Given the description of an element on the screen output the (x, y) to click on. 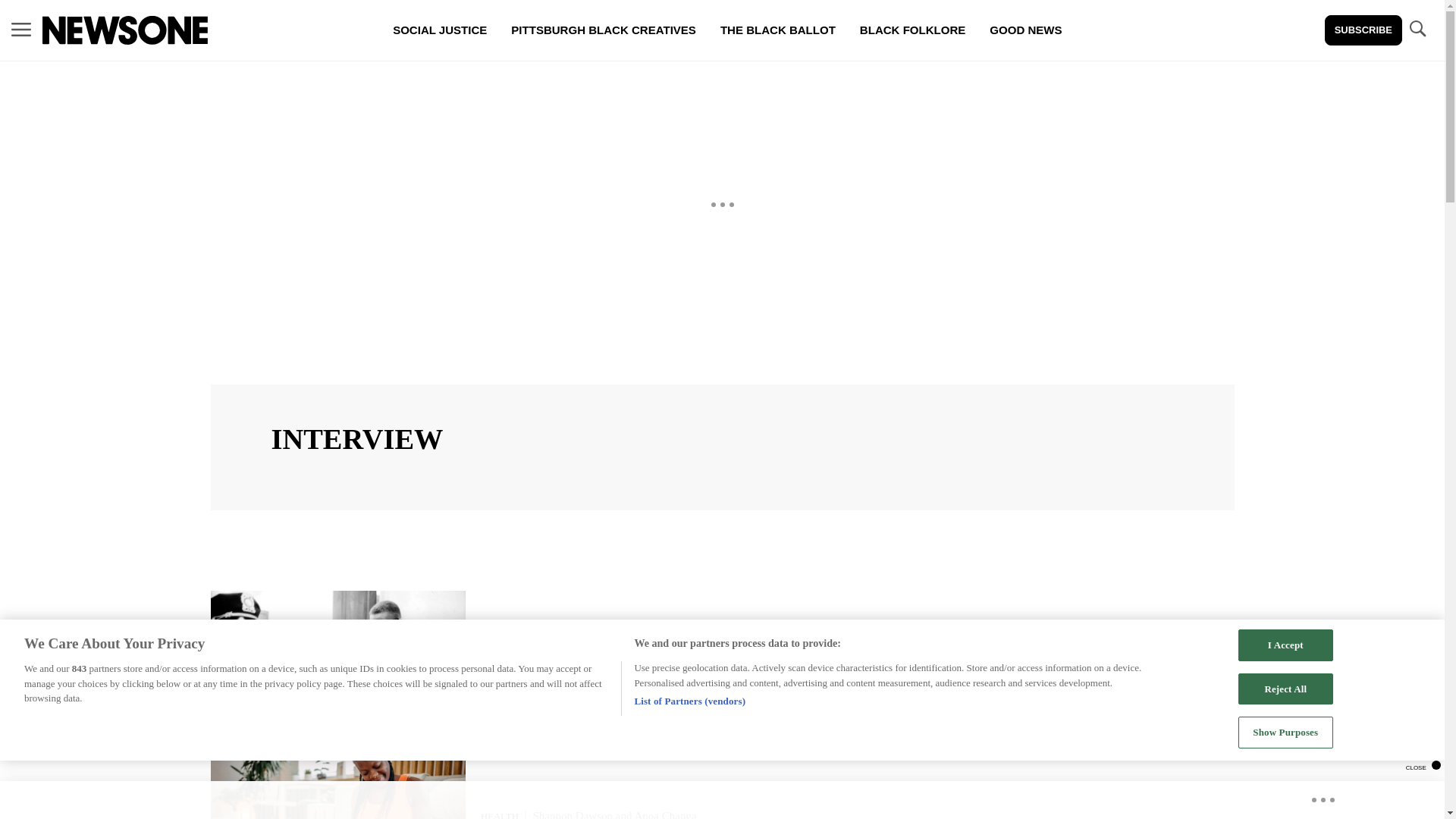
TOGGLE SEARCH (1417, 30)
TOGGLE SEARCH (1417, 28)
Shannon Dawson (685, 647)
BLACK FOLKLORE (911, 30)
SUBSCRIBE (1363, 30)
PITTSBURGH BLACK CREATIVES (603, 30)
GOOD NEWS (1025, 30)
SOCIAL JUSTICE (439, 30)
THE BLACK BALLOT (777, 30)
HEALTH (499, 815)
MENU (20, 29)
MENU (20, 30)
Malcolm X, MLK And The Truth About Their Relationship (673, 664)
